Given the description of an element on the screen output the (x, y) to click on. 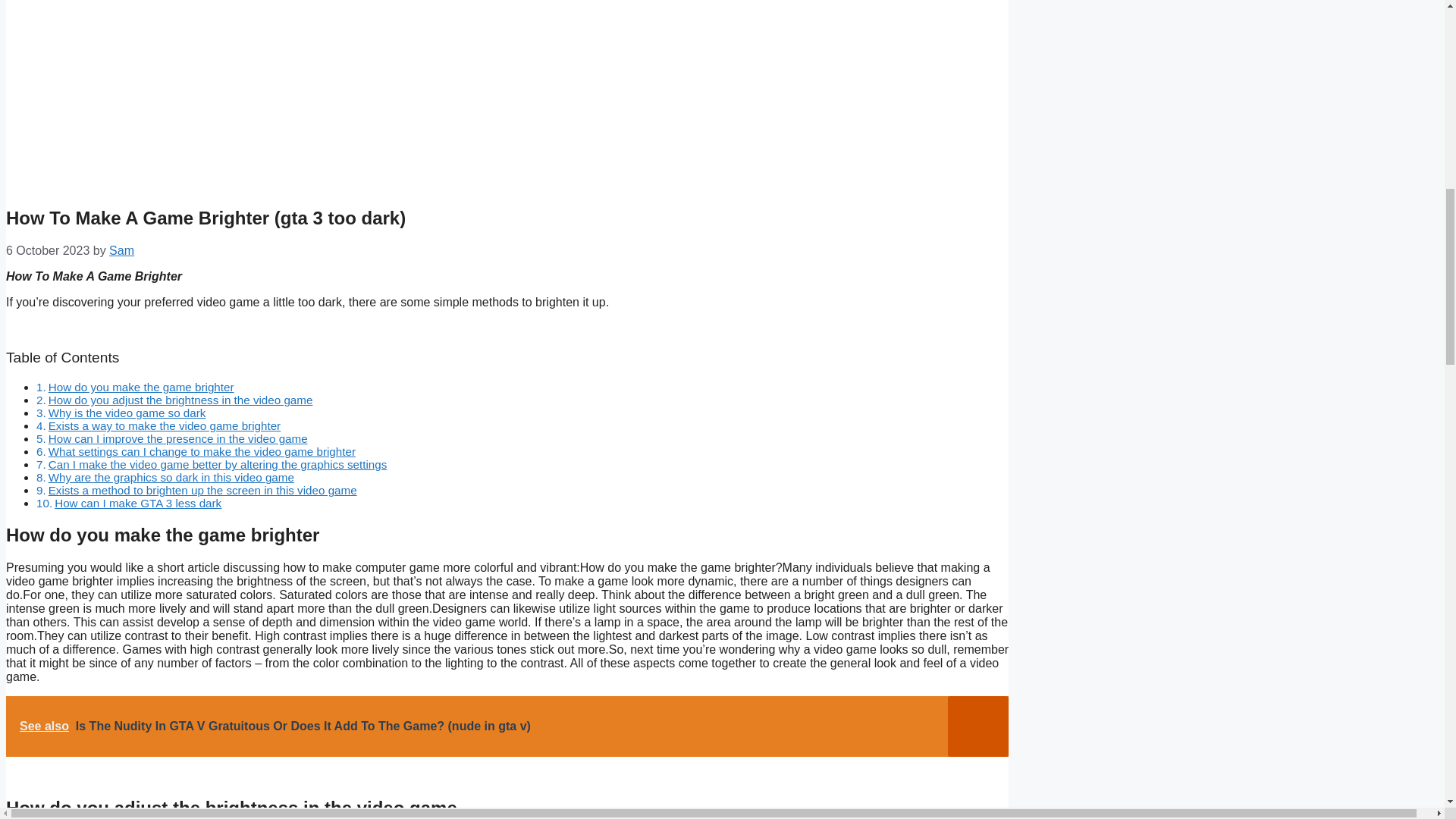
Exists a way to make the video game brighter (164, 425)
Why are the graphics so dark in this video game (171, 477)
View all posts by Sam (121, 250)
How can I improve the presence in the video game (177, 438)
Why is the video game so dark (127, 412)
Why are the graphics so dark in this video game (171, 477)
How can I make GTA 3 less dark (138, 502)
How do you adjust the brightness in the video game (180, 399)
